Given the description of an element on the screen output the (x, y) to click on. 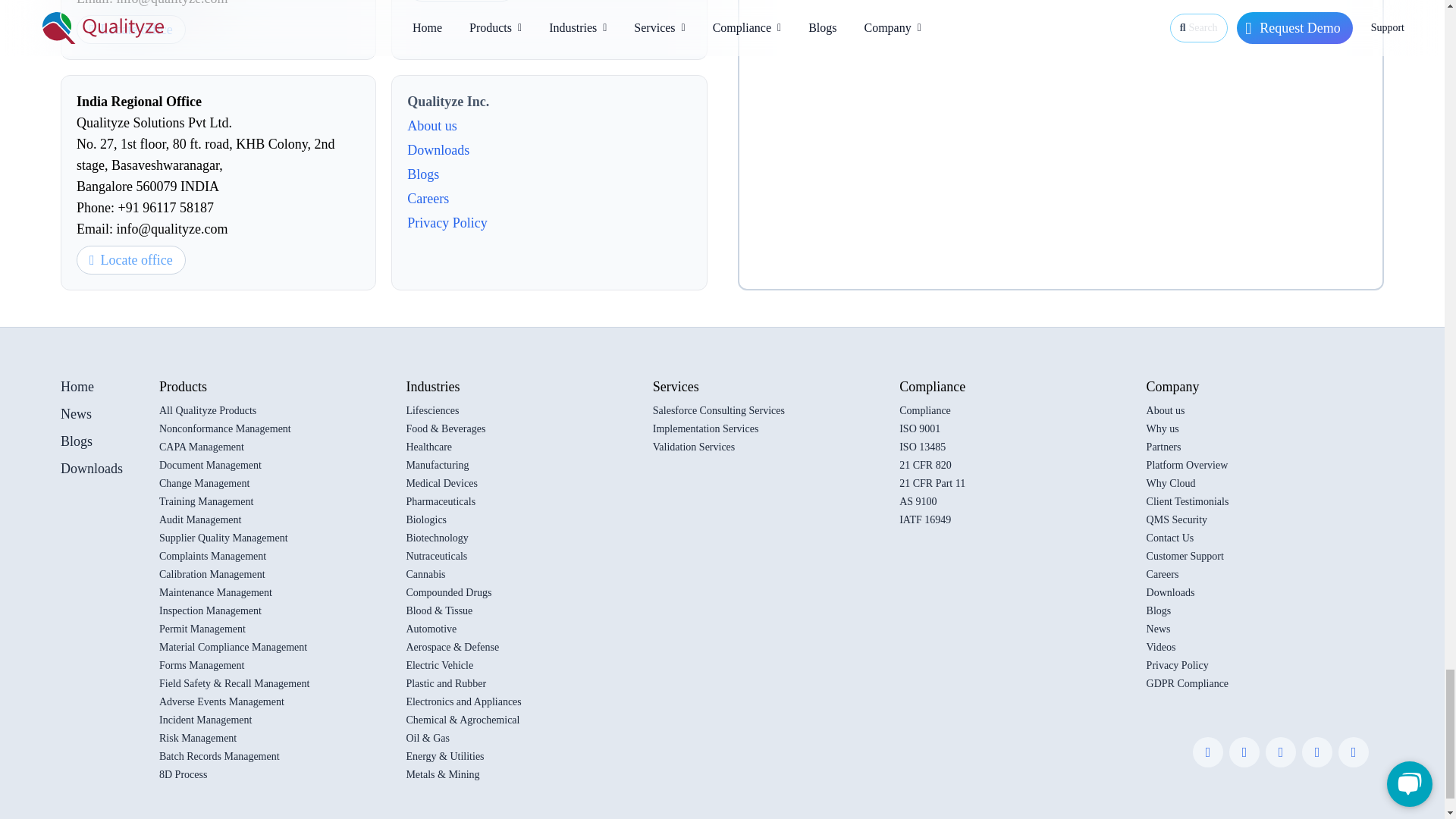
Locate office (131, 259)
Downloads (548, 149)
Locate office (131, 29)
Careers (548, 198)
Blogs (548, 174)
About us (548, 125)
Locate office (461, 0)
